Given the description of an element on the screen output the (x, y) to click on. 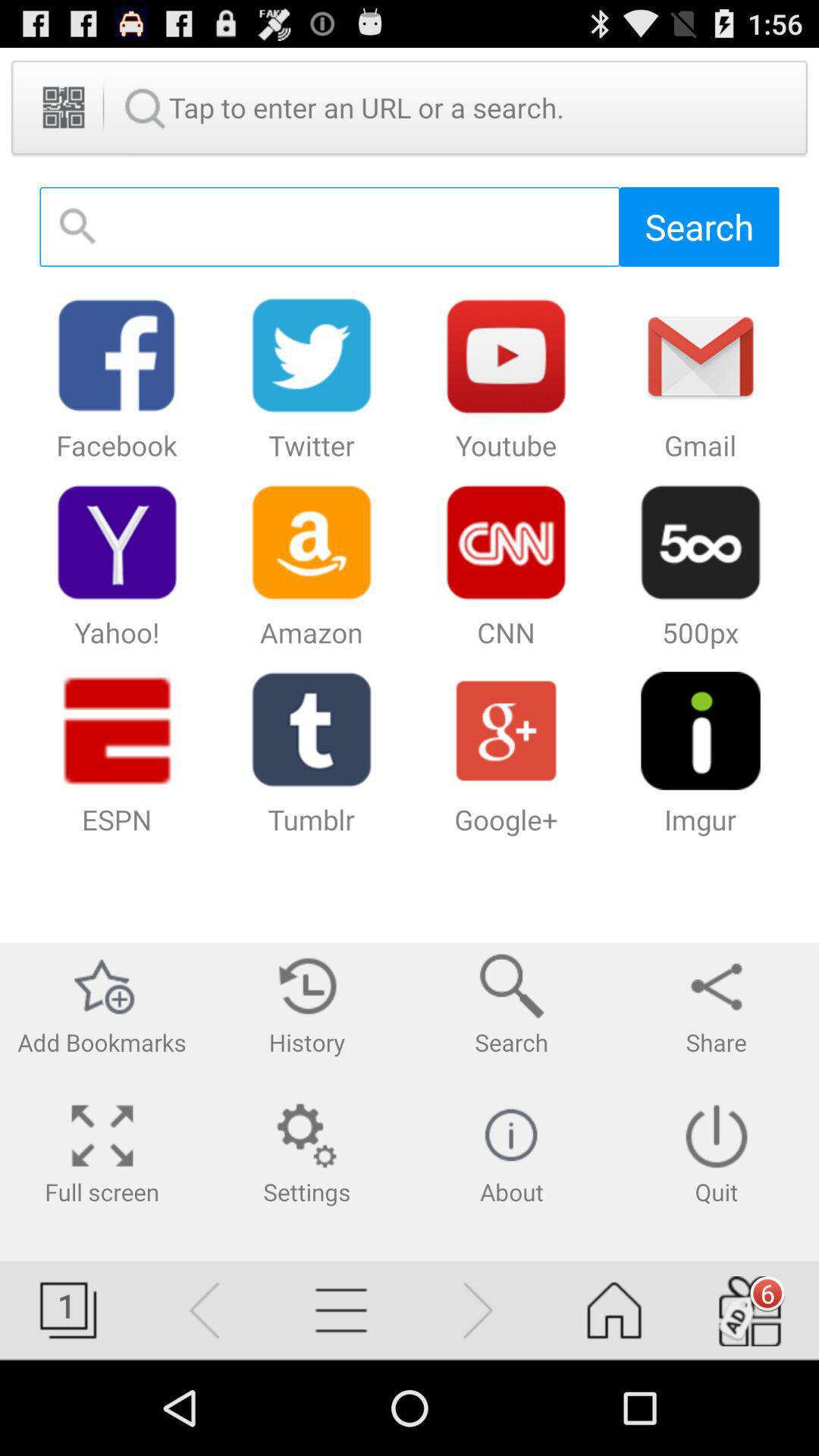
open search bar (329, 226)
